Given the description of an element on the screen output the (x, y) to click on. 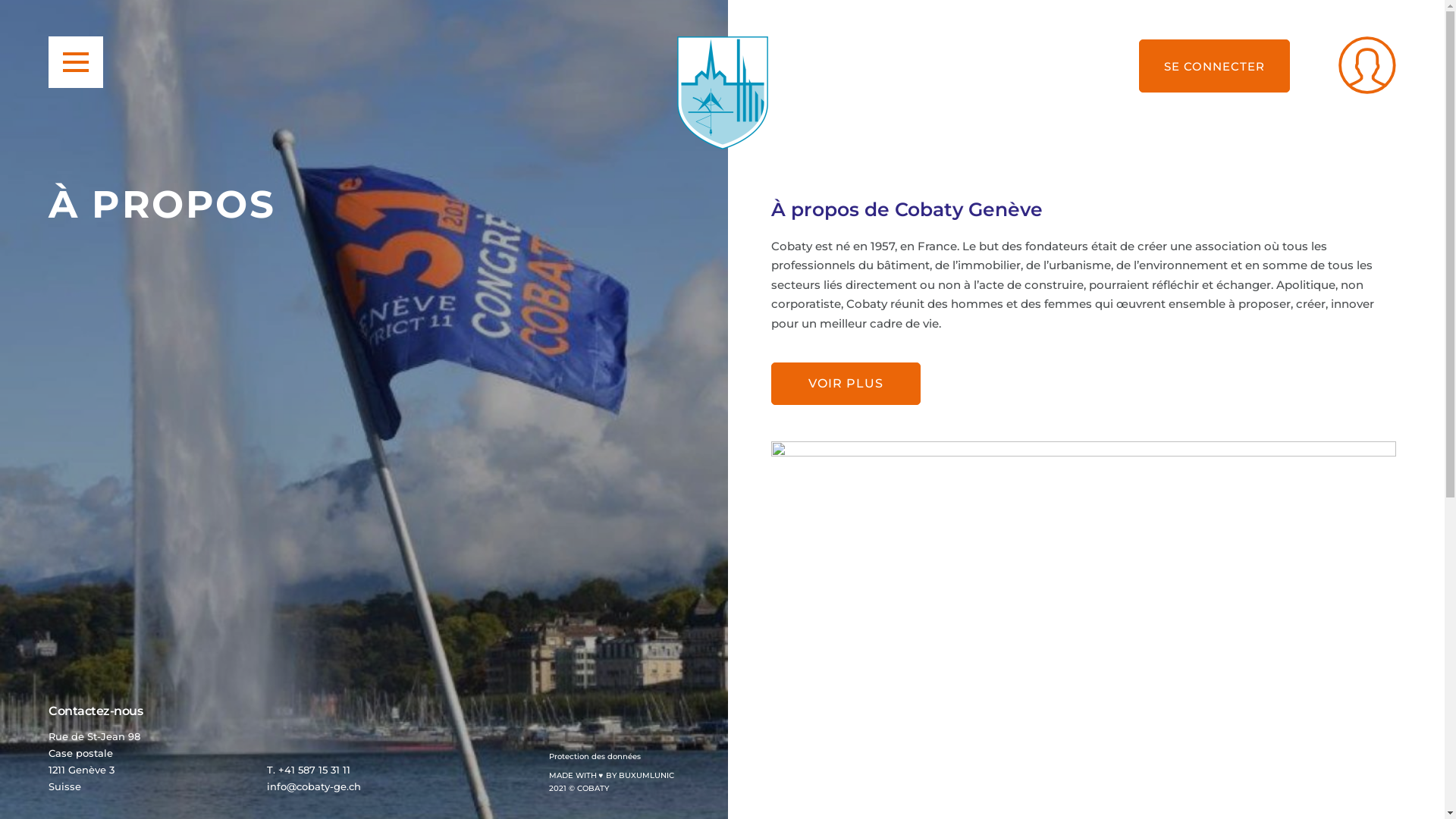
BUXUMLUNIC Element type: text (646, 775)
Contactez-nous Element type: text (95, 710)
info@cobaty-ge.ch Element type: text (313, 786)
VOIR PLUS Element type: text (844, 383)
T. +41 587 15 31 11 Element type: text (308, 769)
SE CONNECTER Element type: text (1214, 65)
